Given the description of an element on the screen output the (x, y) to click on. 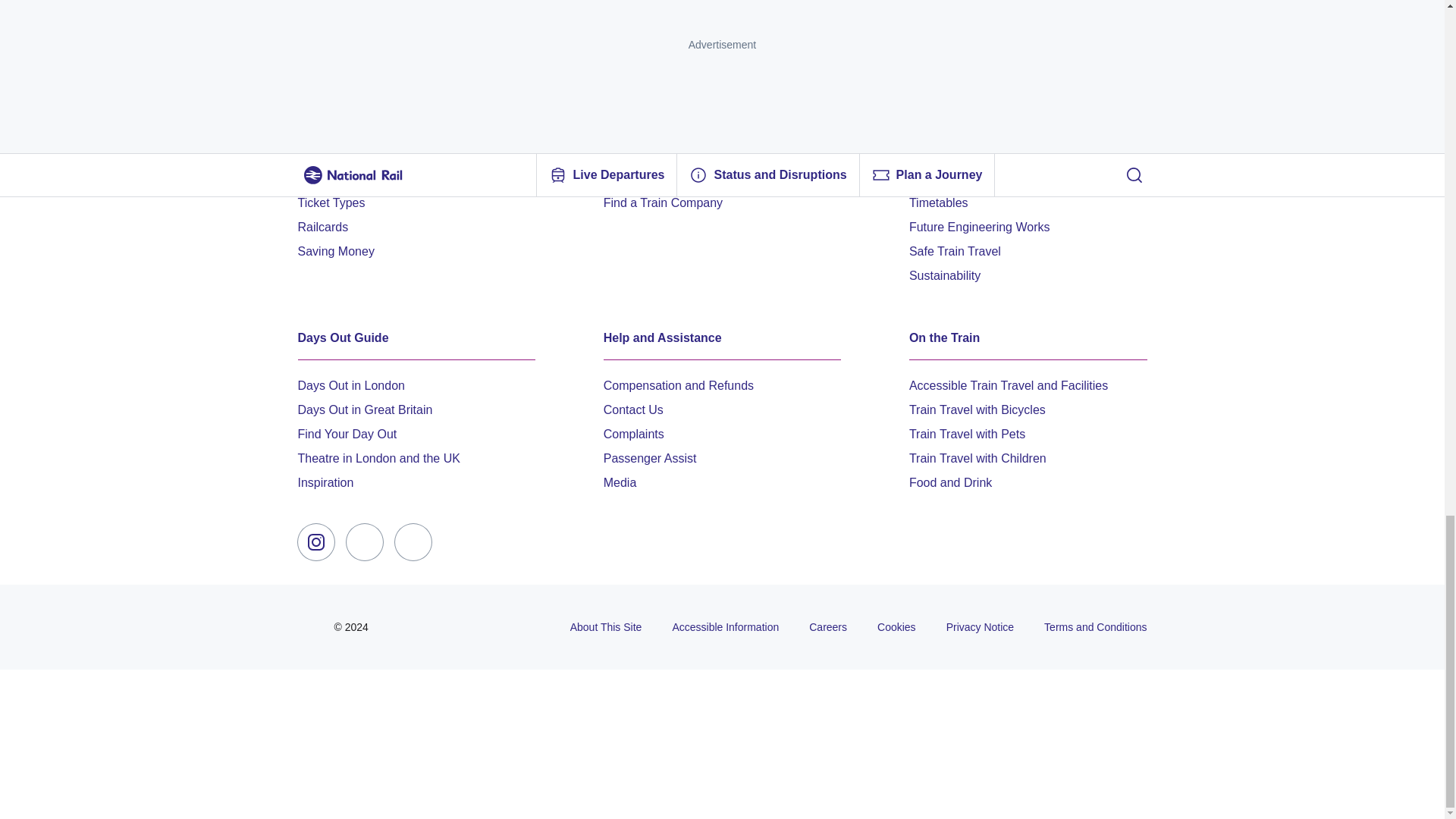
Buying a Ticket (338, 177)
Find a Train Company (663, 201)
Tickets, Railcards and Offers (416, 130)
Timetables (938, 201)
Find a Station (641, 177)
Saving Money (335, 250)
Travel Information (1027, 130)
Railcards (322, 225)
Days Out Guide (416, 337)
Sustainability (943, 274)
